Given the description of an element on the screen output the (x, y) to click on. 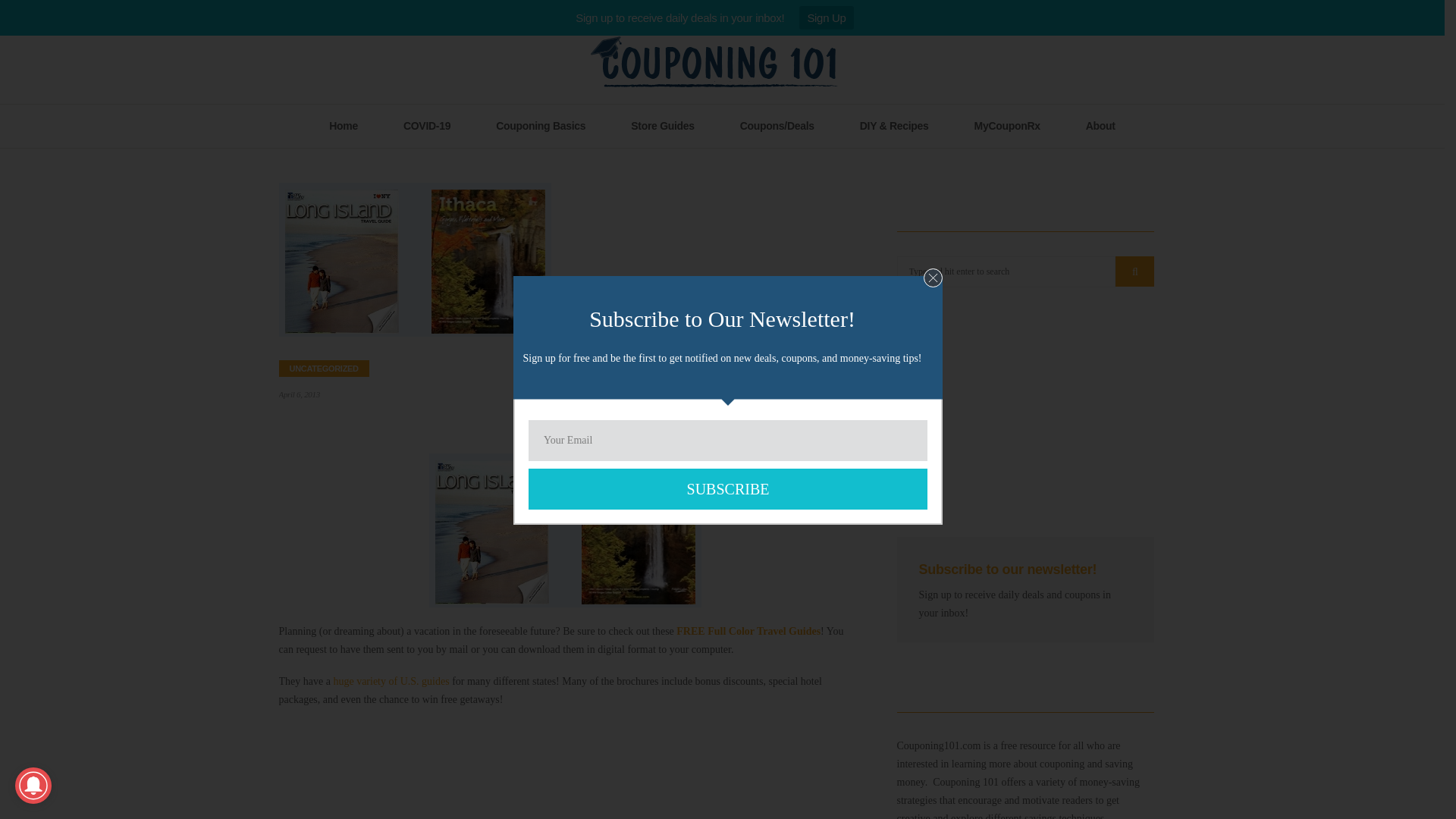
Advertisement (565, 770)
Advertisement (1025, 422)
Home (343, 125)
COVID-19 (426, 125)
Store Guides (663, 125)
Couponing Basics (540, 125)
Sign Up (826, 17)
Travel Guides (565, 530)
